Given the description of an element on the screen output the (x, y) to click on. 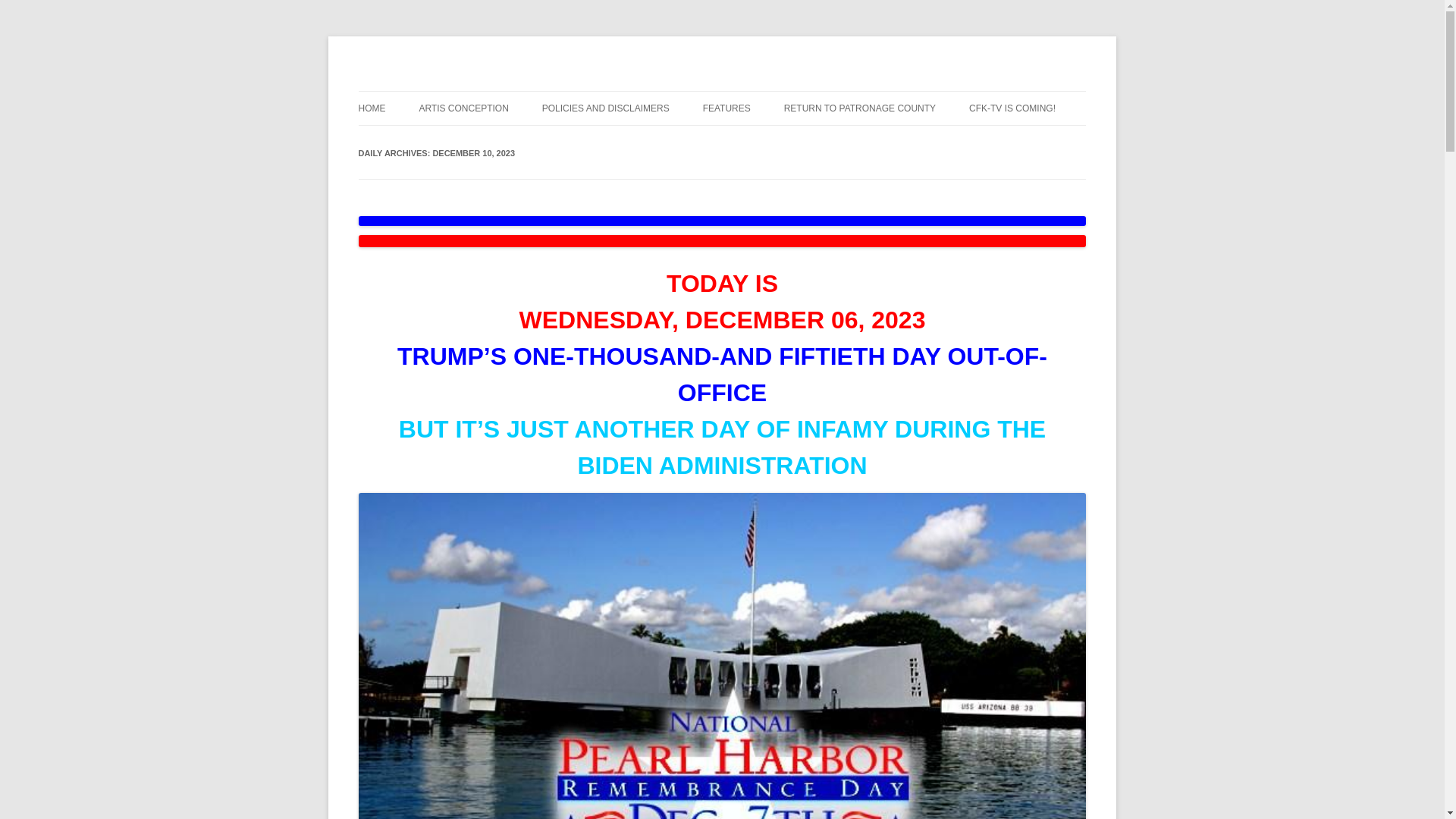
CFK-TV Production Crew Advisory (1012, 108)
ARTIS CONCEPTION (463, 108)
Skip to content (757, 95)
FEATURES (727, 108)
RETURN TO PATRONAGE COUNTY (860, 108)
Skip to content (757, 95)
POLICIES AND DISCLAIMERS (605, 108)
Artis Conception (463, 108)
Whistleblower Disclaimers (605, 108)
THE SEEDIEST KIDS OF ALL (778, 140)
